Given the description of an element on the screen output the (x, y) to click on. 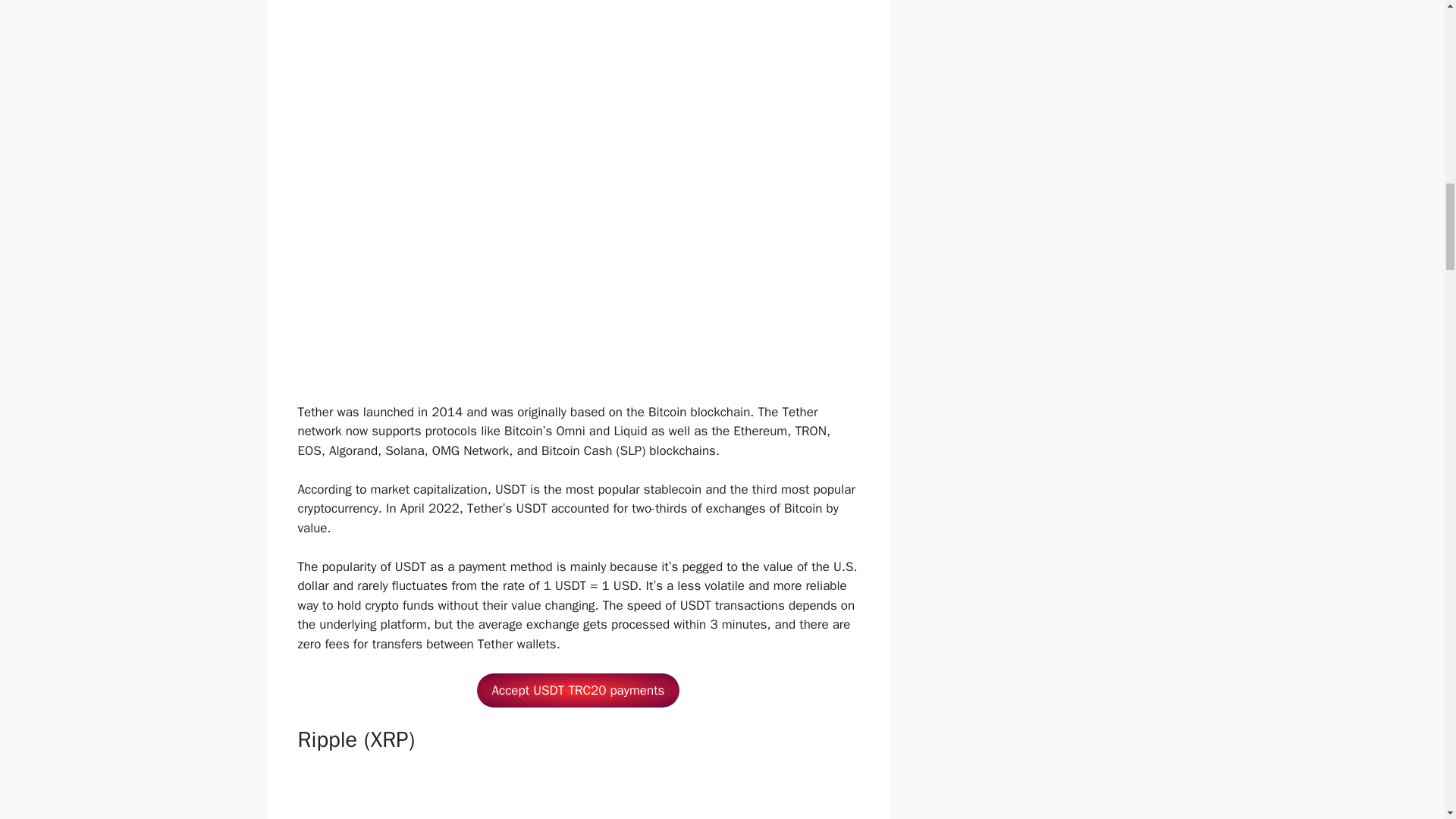
Accept USDT TRC20 payments (578, 690)
